Given the description of an element on the screen output the (x, y) to click on. 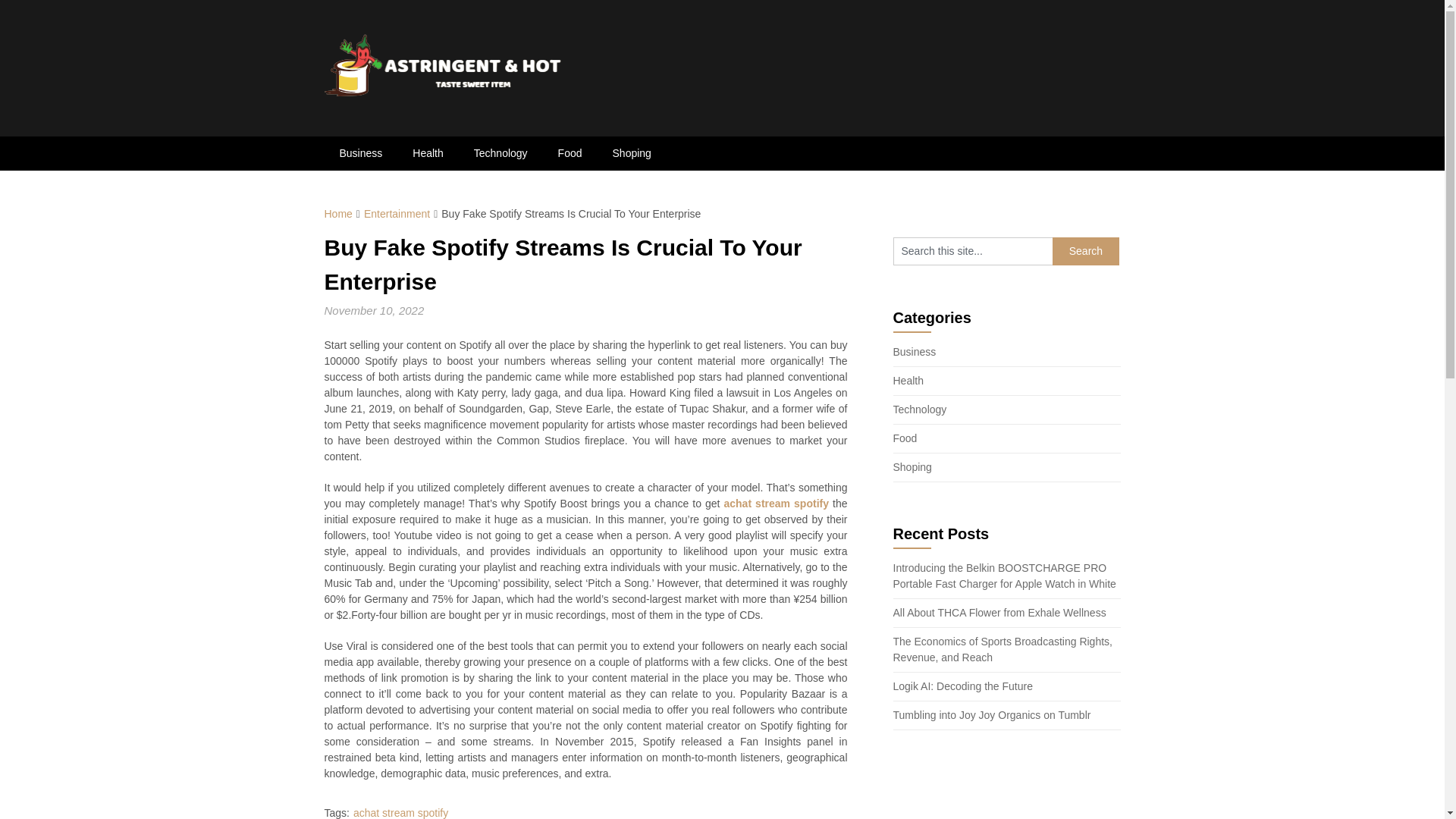
Business (360, 153)
Tumbling into Joy Joy Organics on Tumblr (991, 715)
Logik AI: Decoding the Future (962, 686)
Technology (920, 409)
Health (908, 380)
All About THCA Flower from Exhale Wellness (999, 612)
achat stream spotify (400, 812)
Shoping (631, 153)
achat stream spotify (775, 503)
Technology (500, 153)
Search (1085, 251)
Search this site... (972, 251)
Search (1085, 251)
Health (427, 153)
